Given the description of an element on the screen output the (x, y) to click on. 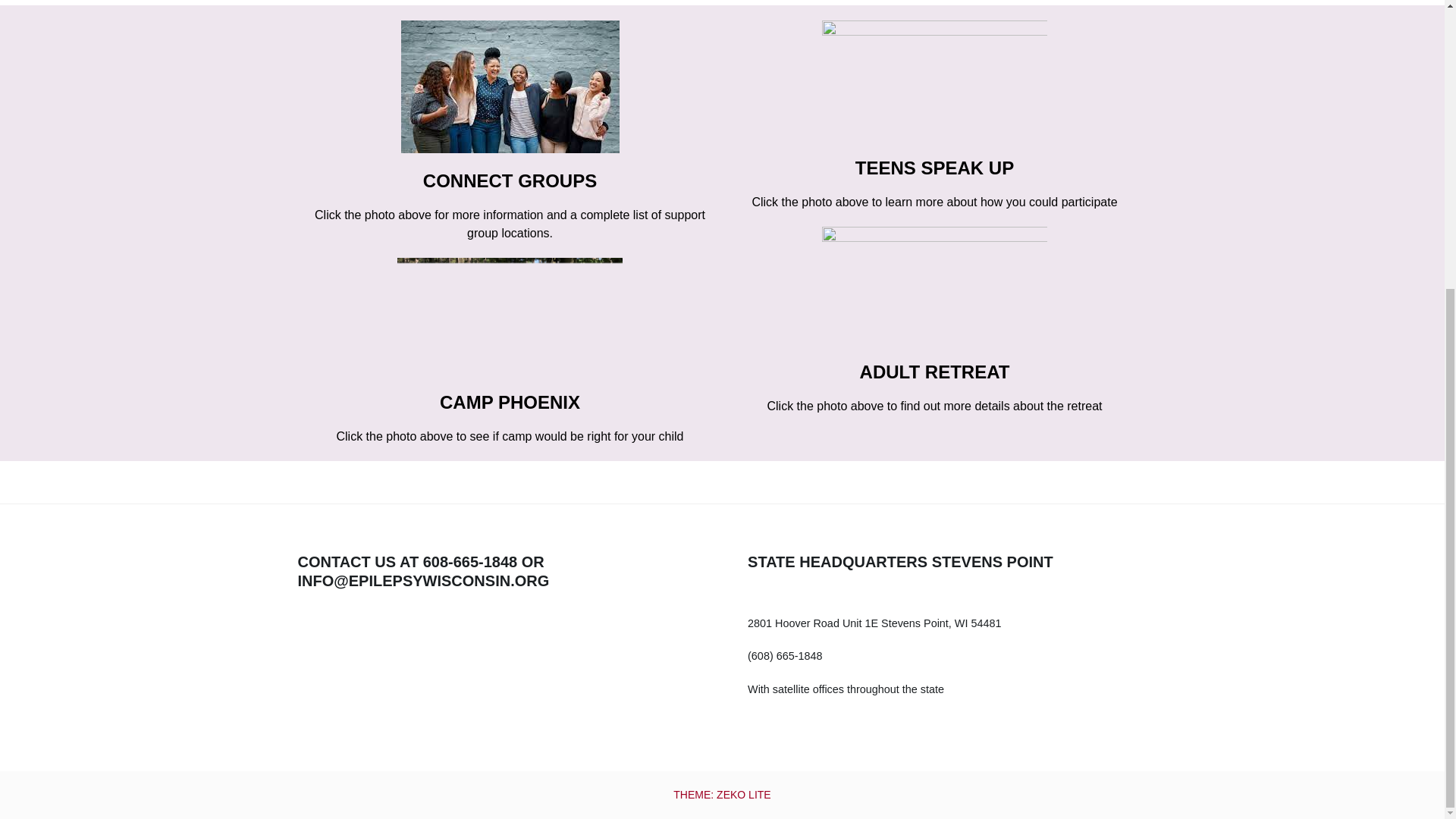
THEME: ZEKO LITE (721, 795)
ADULT RETREAT (935, 371)
TEENS SPEAK UP (934, 168)
CONNECT GROUPS (509, 180)
CAMP PHOENIX (509, 402)
